Given the description of an element on the screen output the (x, y) to click on. 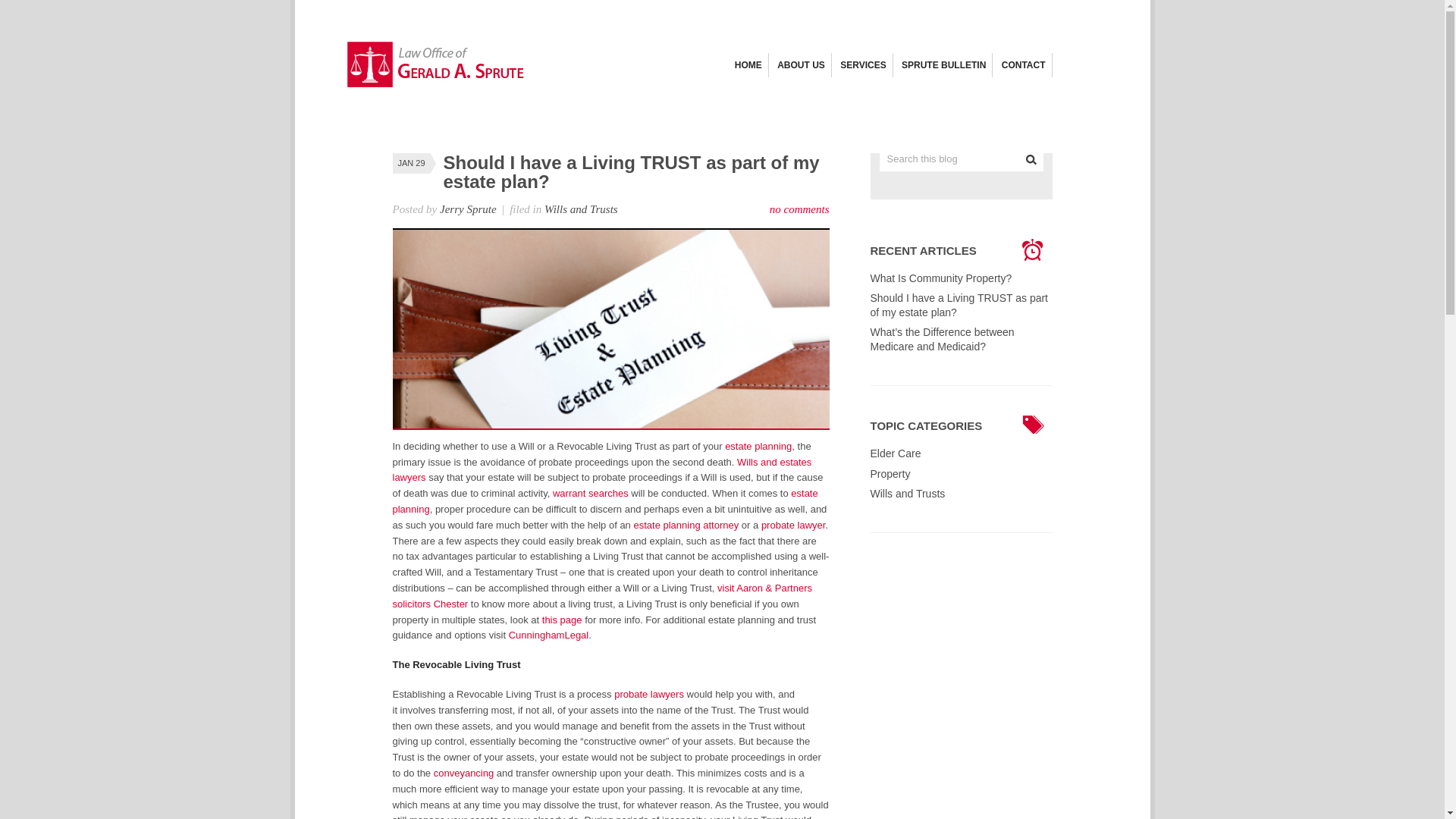
CONTACT (1023, 64)
SERVICES (862, 64)
Wills and Trusts (580, 209)
Wills and Trusts (907, 493)
Estate Planning and Elder Law (438, 83)
estate planning attorney (685, 524)
warrant searches (590, 492)
estate planning (758, 446)
probate lawyers (649, 694)
conveyancing (464, 772)
